Given the description of an element on the screen output the (x, y) to click on. 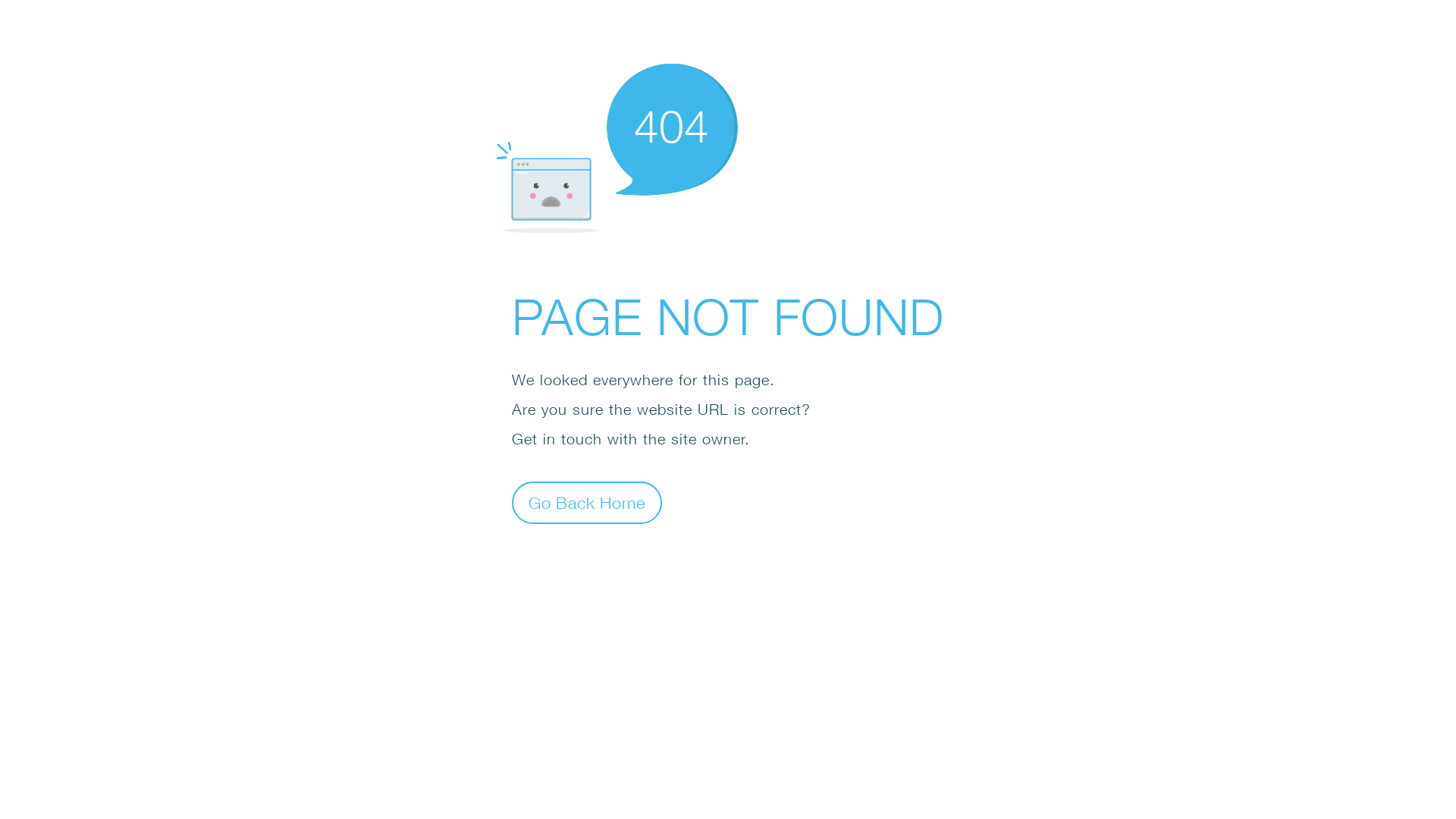
Go Back Home Element type: text (586, 502)
